Given the description of an element on the screen output the (x, y) to click on. 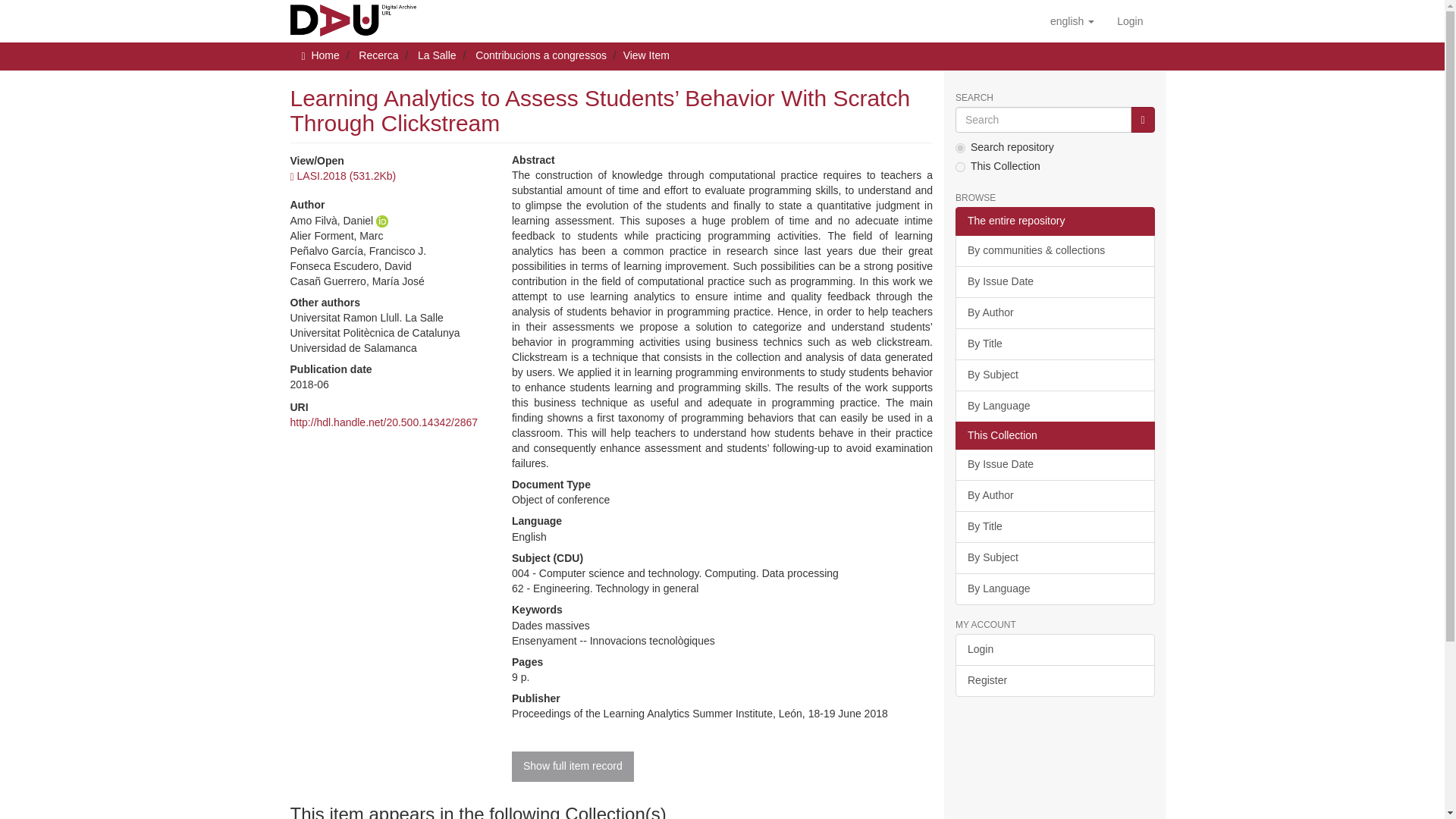
Go (1142, 119)
Login (1129, 21)
english  (1072, 21)
dau.url.edu (353, 18)
Contribucions a congressos (541, 55)
Home (325, 55)
La Salle (437, 55)
Recerca (377, 55)
Show full item record (572, 766)
